Given the description of an element on the screen output the (x, y) to click on. 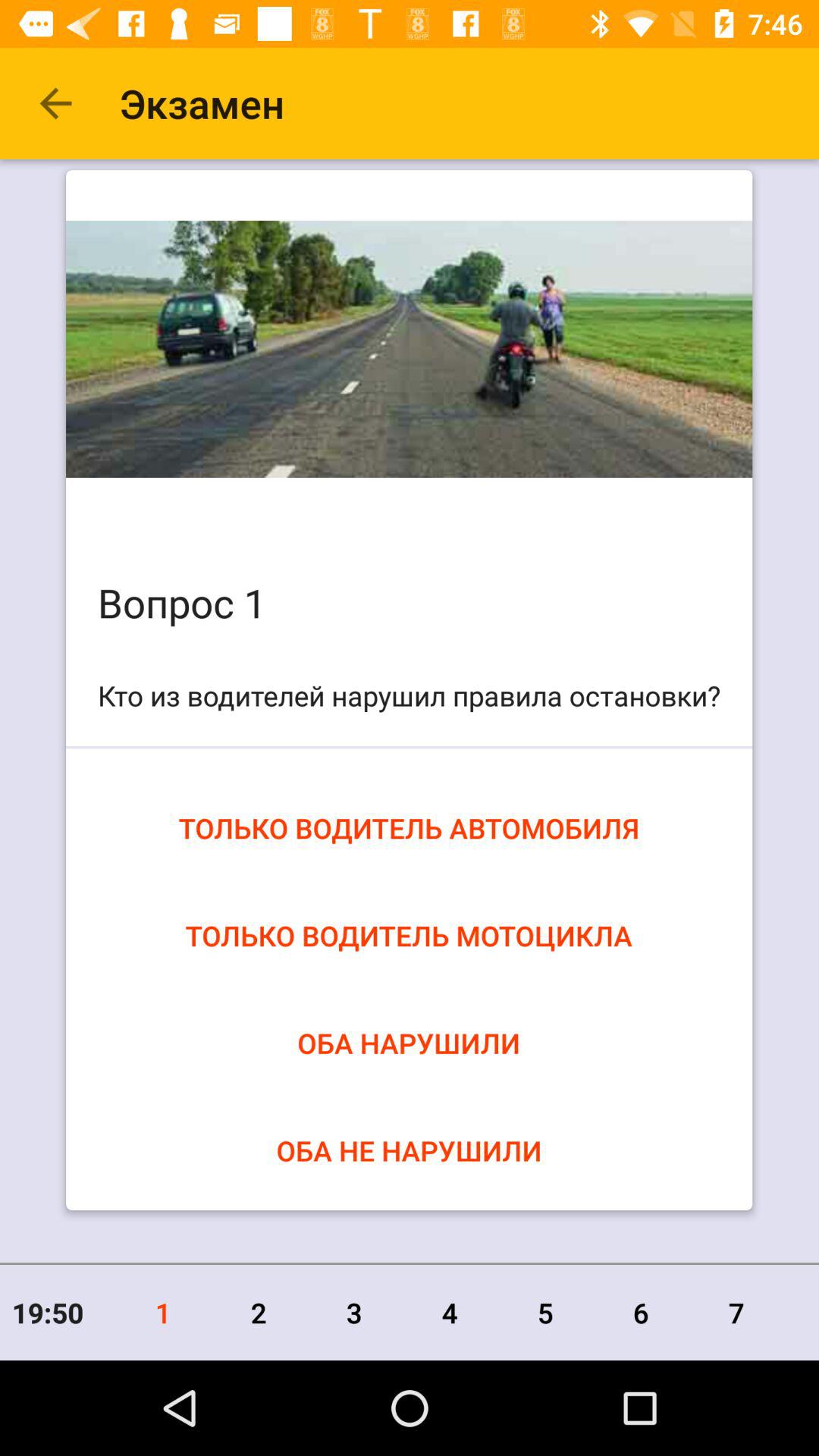
tap the icon to the left of the 7 (640, 1312)
